Given the description of an element on the screen output the (x, y) to click on. 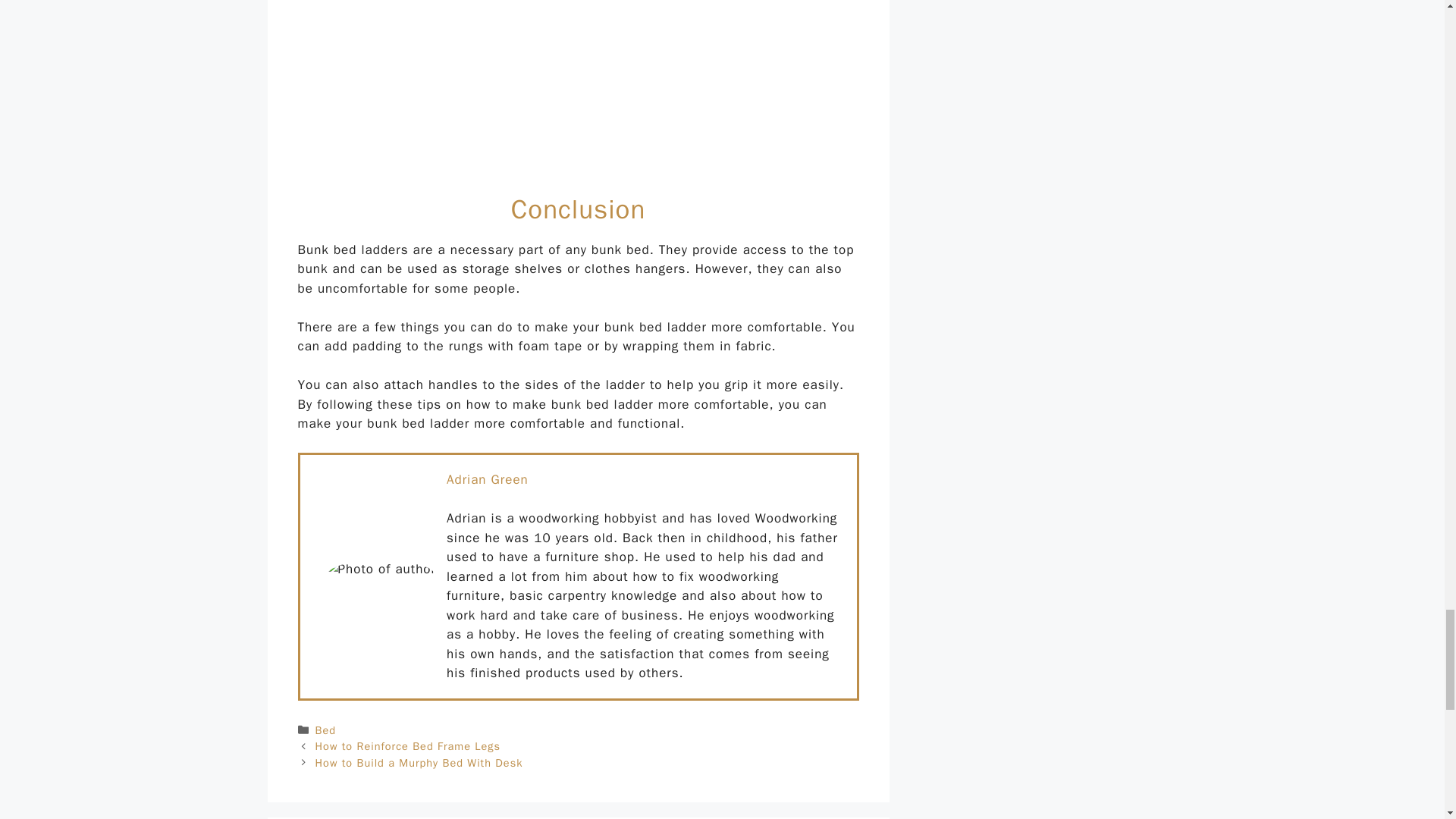
Adrian Green (487, 479)
How to Reinforce Bed Frame Legs (407, 745)
Bed (325, 730)
How to Build a Murphy Bed With Desk (418, 762)
